Given the description of an element on the screen output the (x, y) to click on. 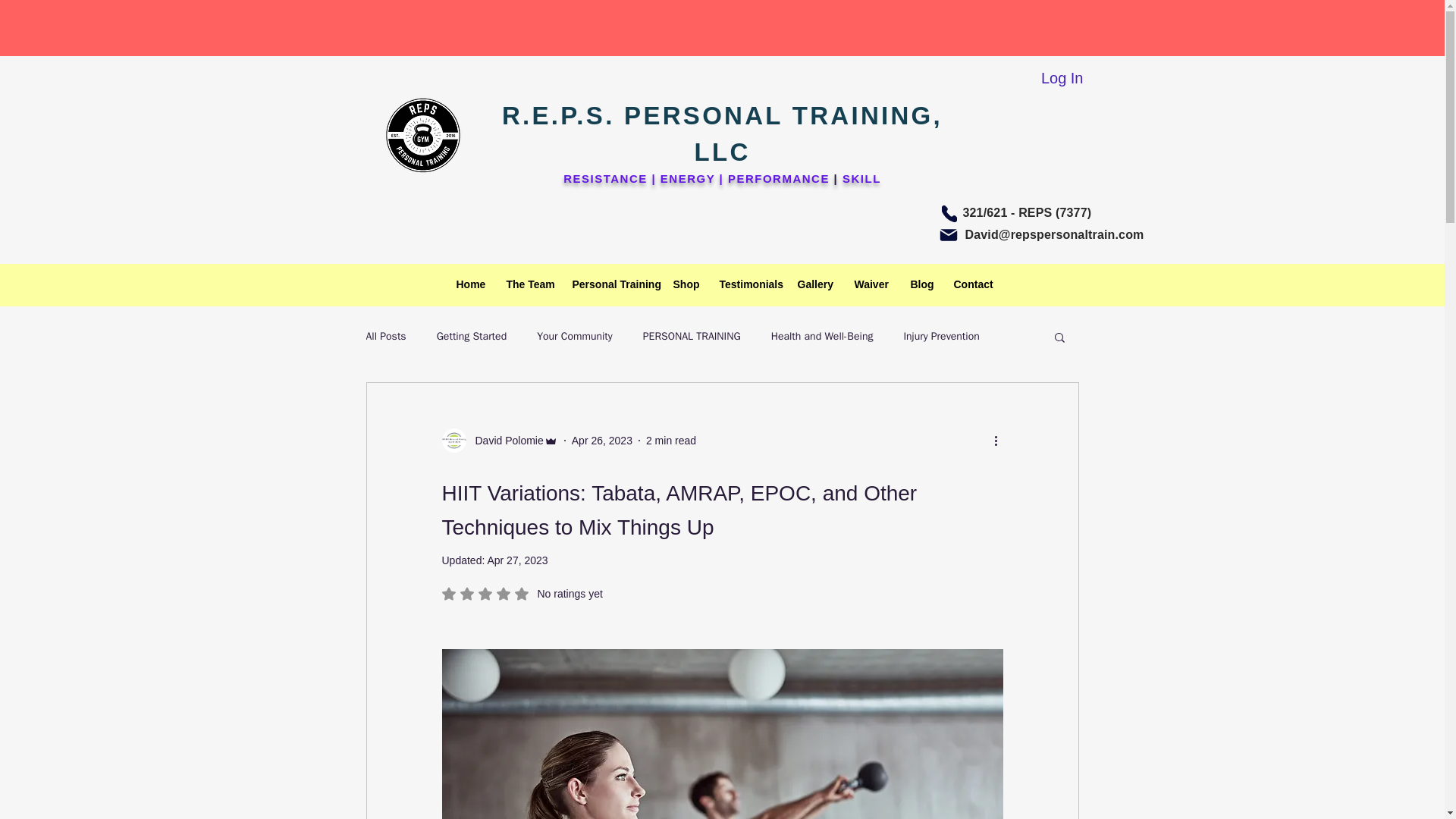
Home (469, 284)
All Posts (385, 336)
2 min read (670, 440)
The Team (527, 284)
Apr 27, 2023 (516, 560)
Gallery (814, 284)
Shop (684, 284)
Getting Started (471, 336)
Log In (1062, 78)
Health and Well-Being (822, 336)
